Given the description of an element on the screen output the (x, y) to click on. 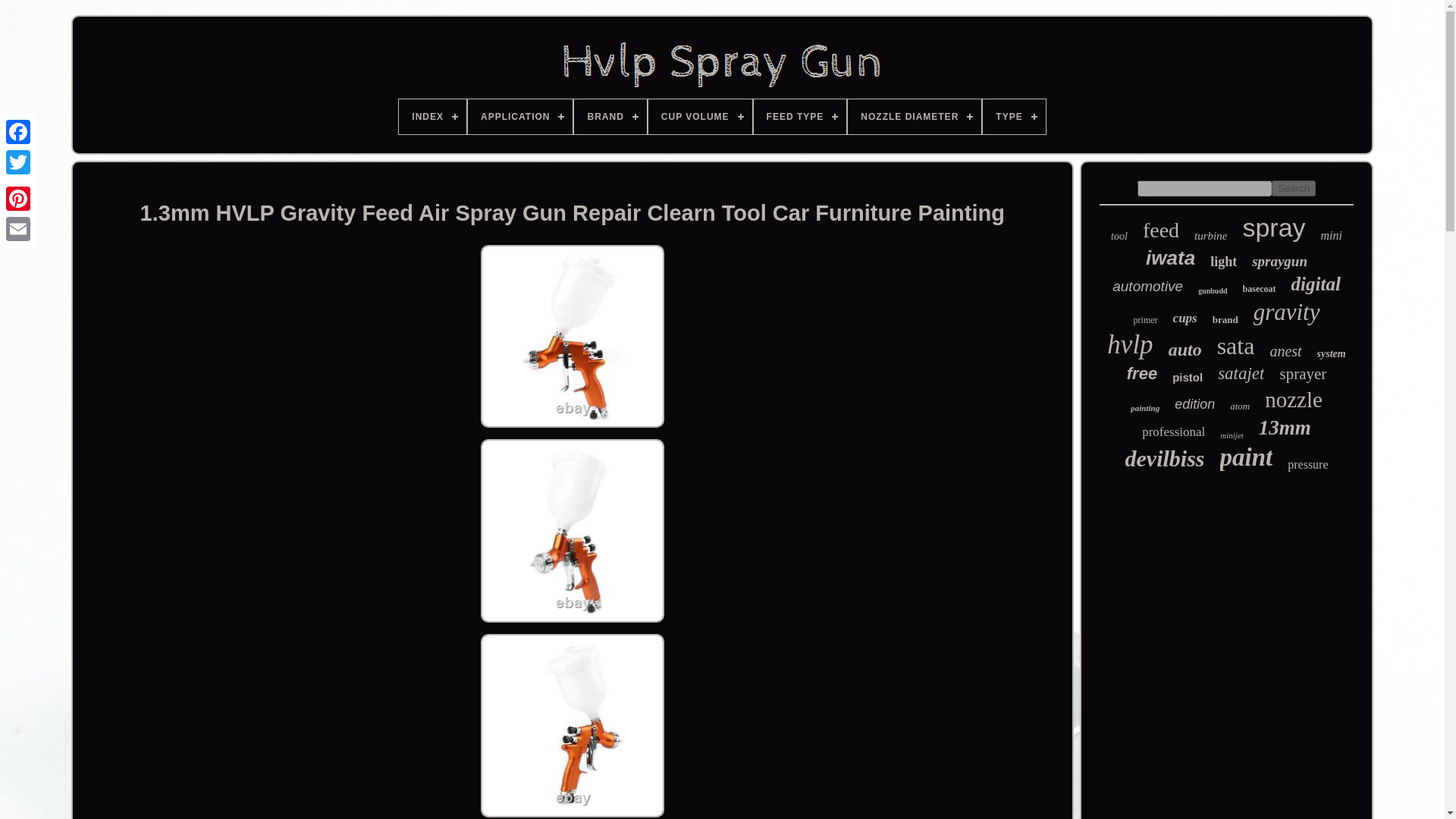
Facebook (17, 132)
APPLICATION (519, 116)
INDEX (431, 116)
BRAND (609, 116)
Search (1293, 188)
CUP VOLUME (699, 116)
